Given the description of an element on the screen output the (x, y) to click on. 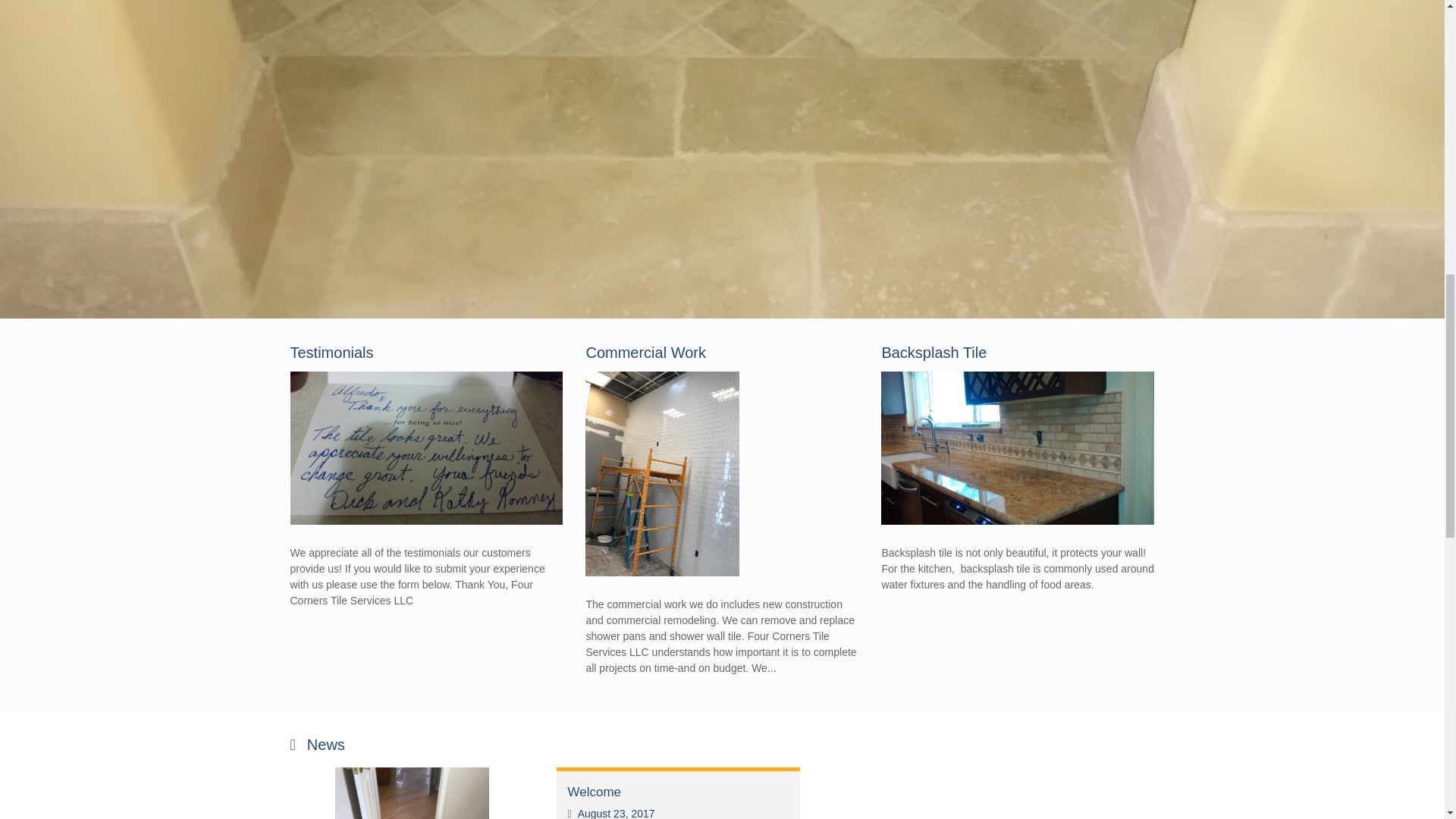
Commercial Work (645, 352)
Welcome (594, 791)
August 23, 2017 (610, 813)
Testimonials (330, 352)
Backsplash Tile (933, 352)
